Given the description of an element on the screen output the (x, y) to click on. 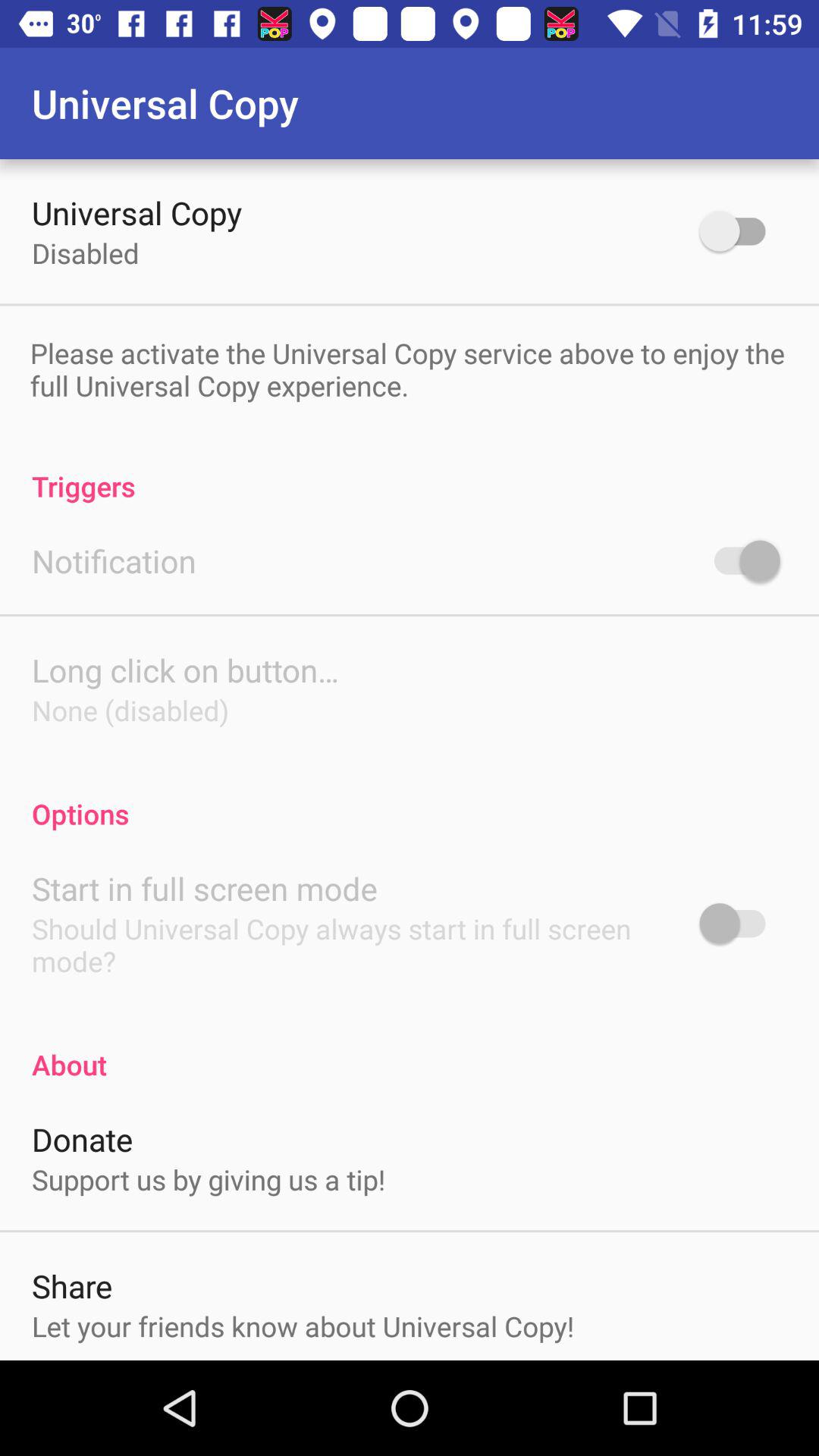
select the support us by (208, 1179)
